Given the description of an element on the screen output the (x, y) to click on. 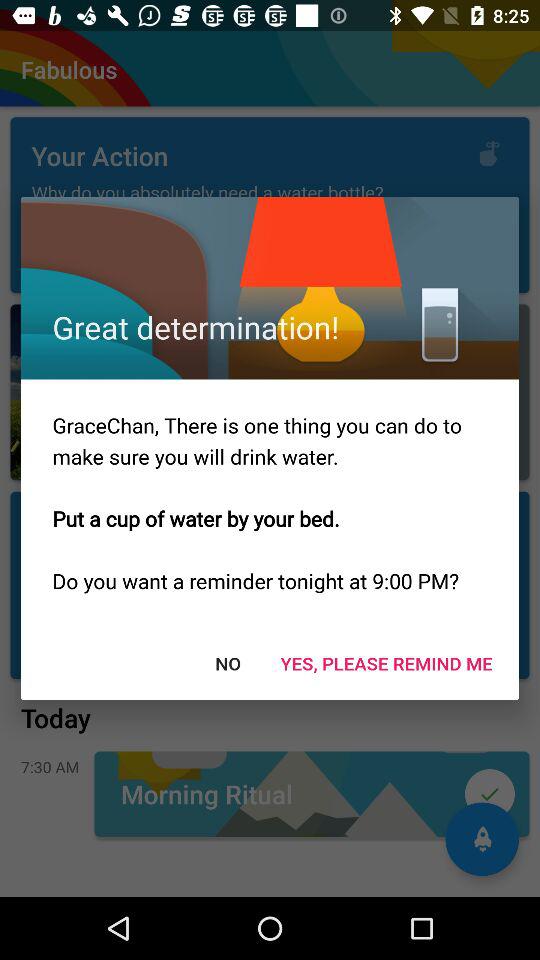
launch the item next to the yes please remind (228, 662)
